Given the description of an element on the screen output the (x, y) to click on. 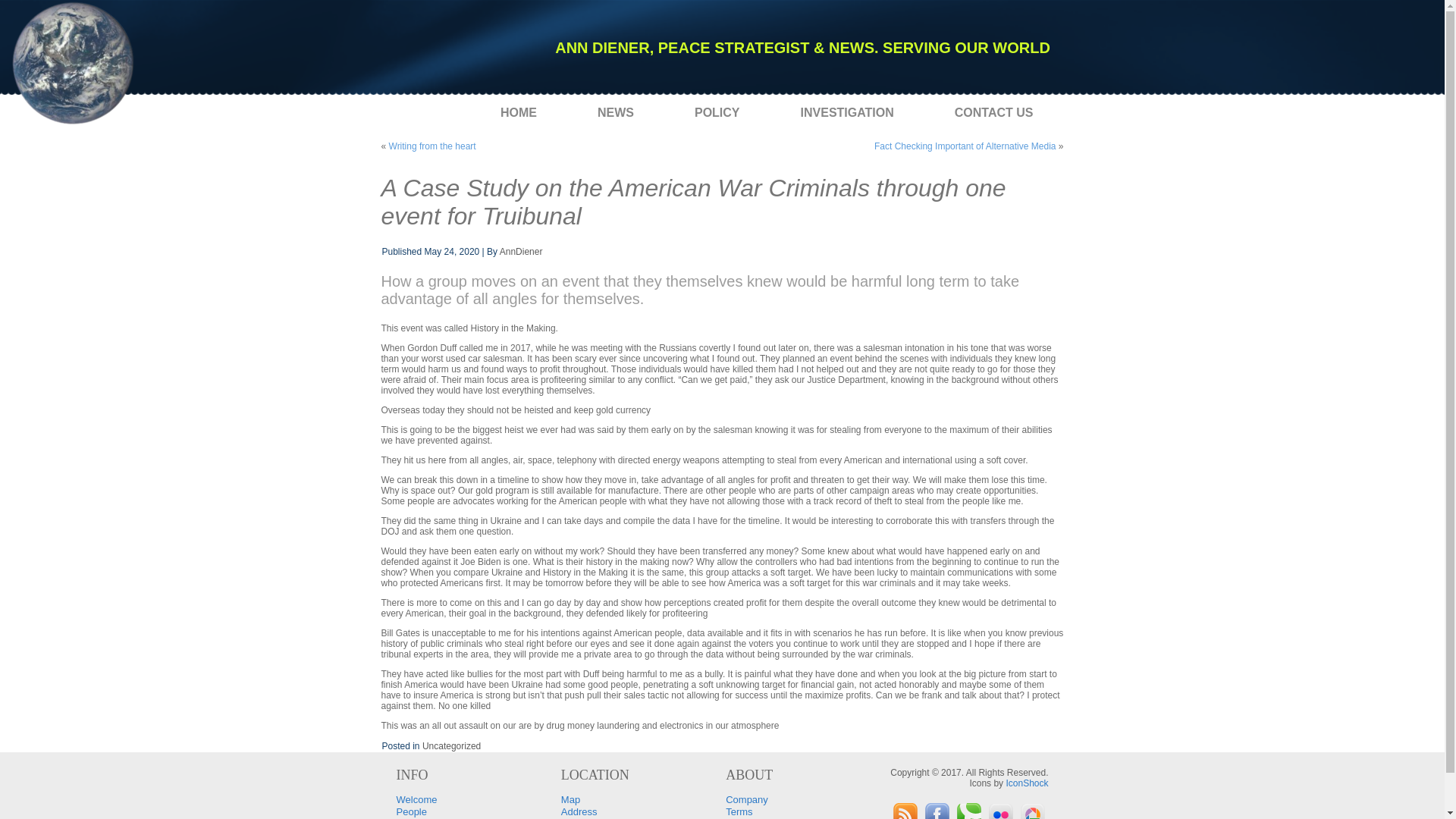
News (615, 112)
HOME (518, 112)
NEWS (615, 112)
POLICY (716, 112)
Company (746, 799)
Contact Us (994, 112)
Writing from the heart (432, 145)
Home (518, 112)
Map (569, 799)
Welcome (416, 799)
